Given the description of an element on the screen output the (x, y) to click on. 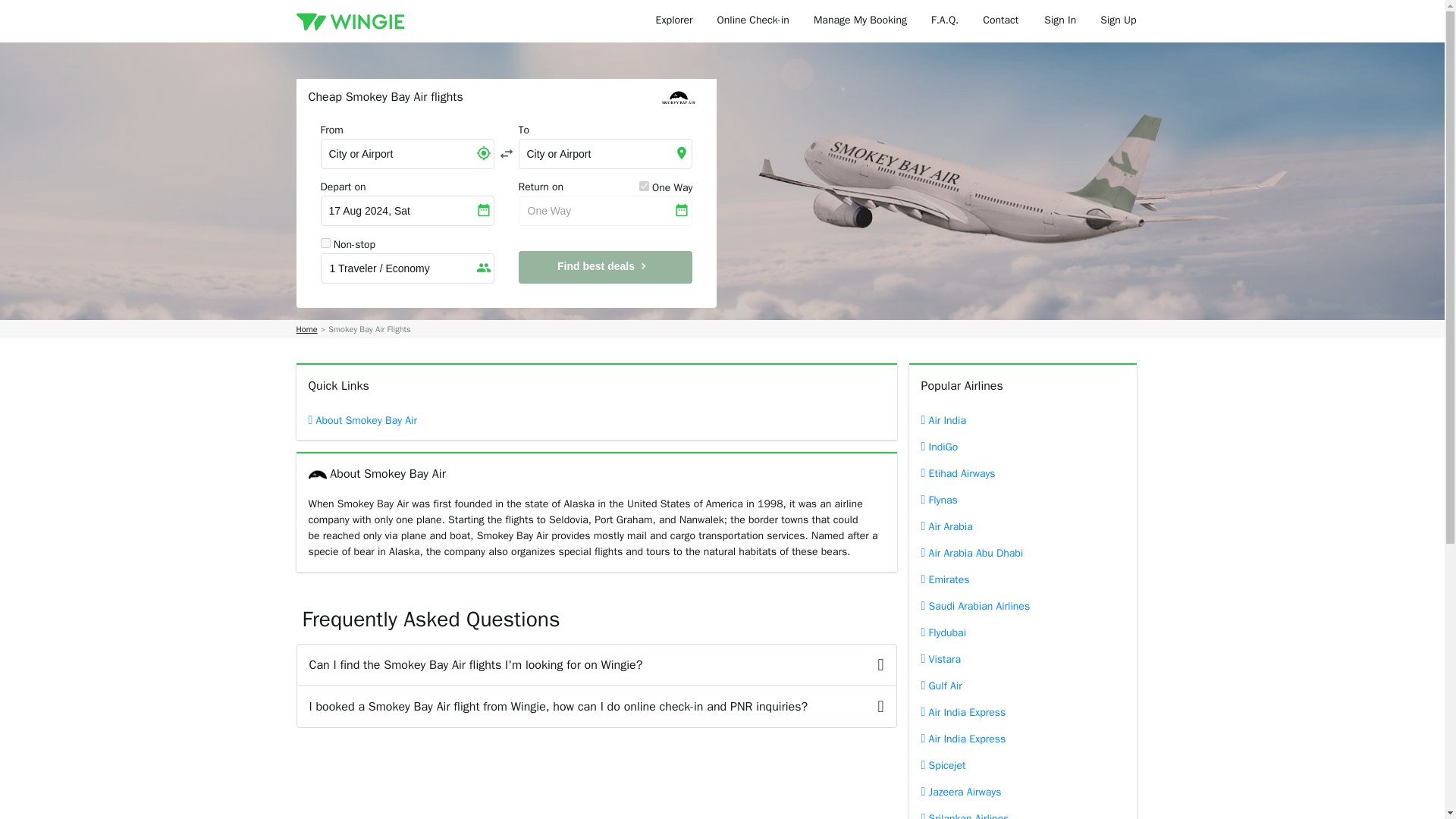
Srilankan Airlines (1021, 812)
F.A.Q. (944, 21)
Emirates (1021, 579)
false (325, 243)
Jazeera Airways (1021, 791)
Sign Up (1117, 21)
Air Arabia Abu Dhabi (1021, 552)
Gulf Air (1021, 685)
Vistara (1021, 659)
About Smokey Bay Air (391, 420)
